Given the description of an element on the screen output the (x, y) to click on. 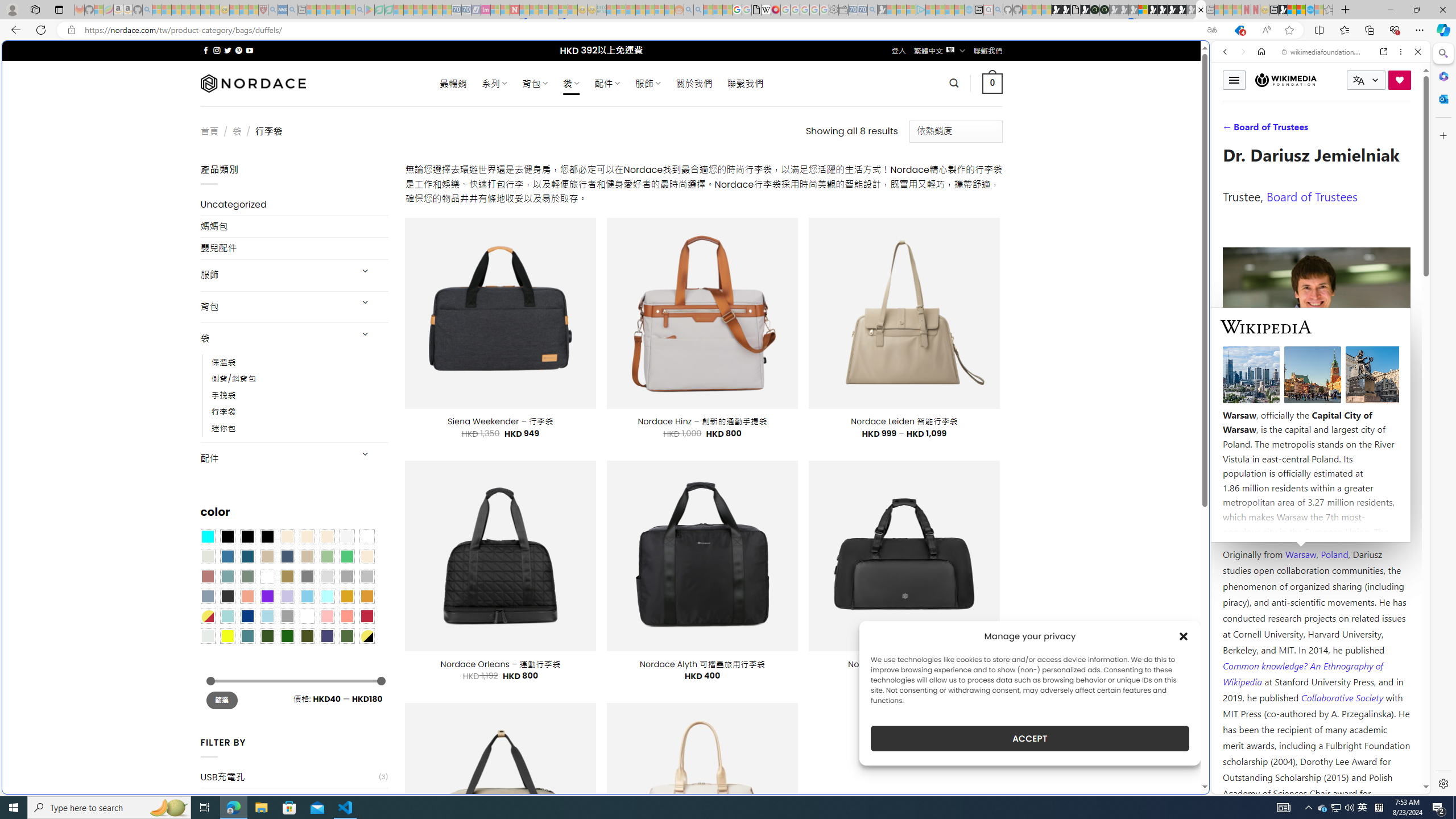
Close split screen (1208, 57)
Follow on Instagram (216, 50)
Profile on Meta-Wiki (1273, 405)
